Given the description of an element on the screen output the (x, y) to click on. 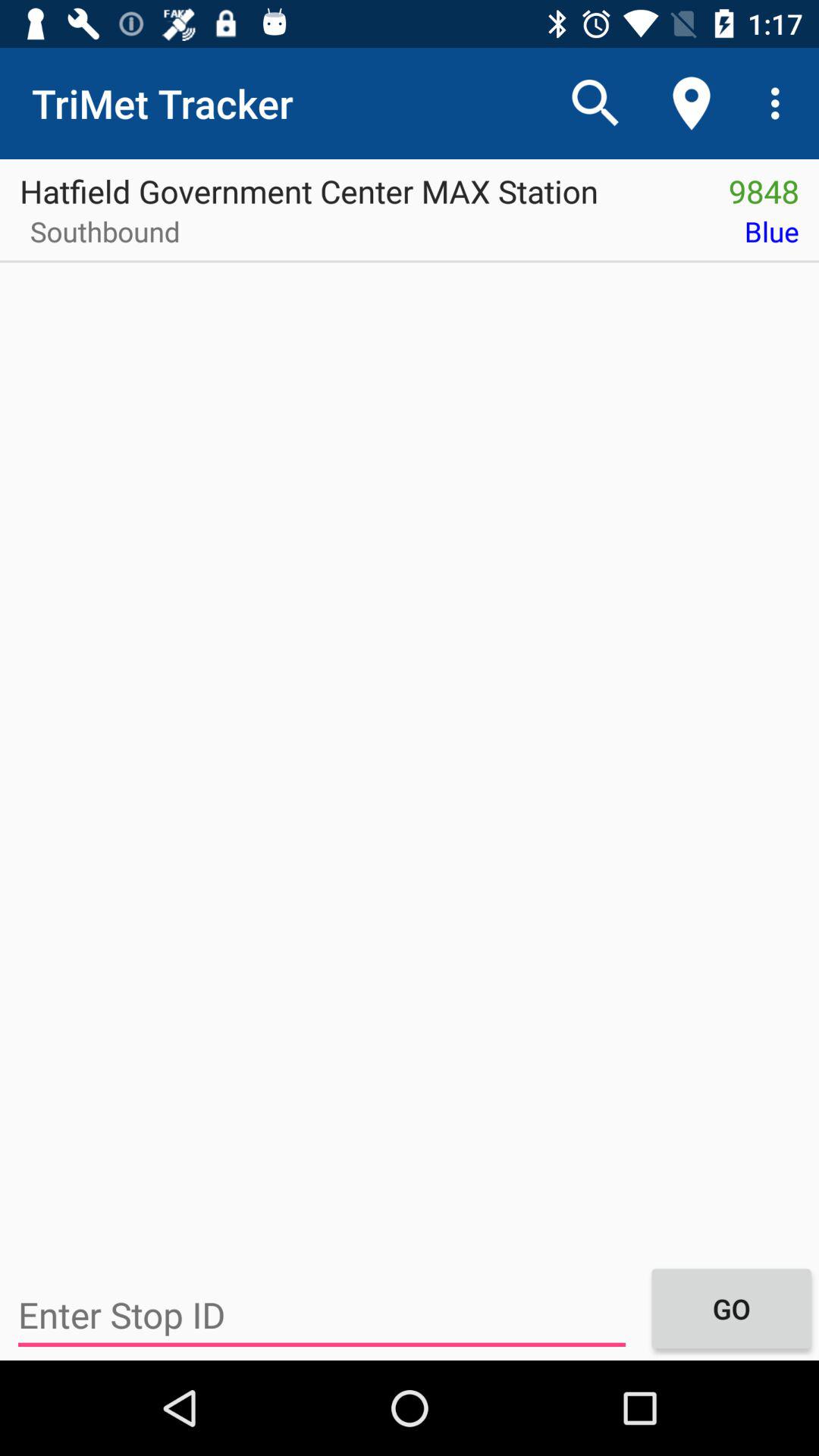
flip until southbound item (100, 236)
